Given the description of an element on the screen output the (x, y) to click on. 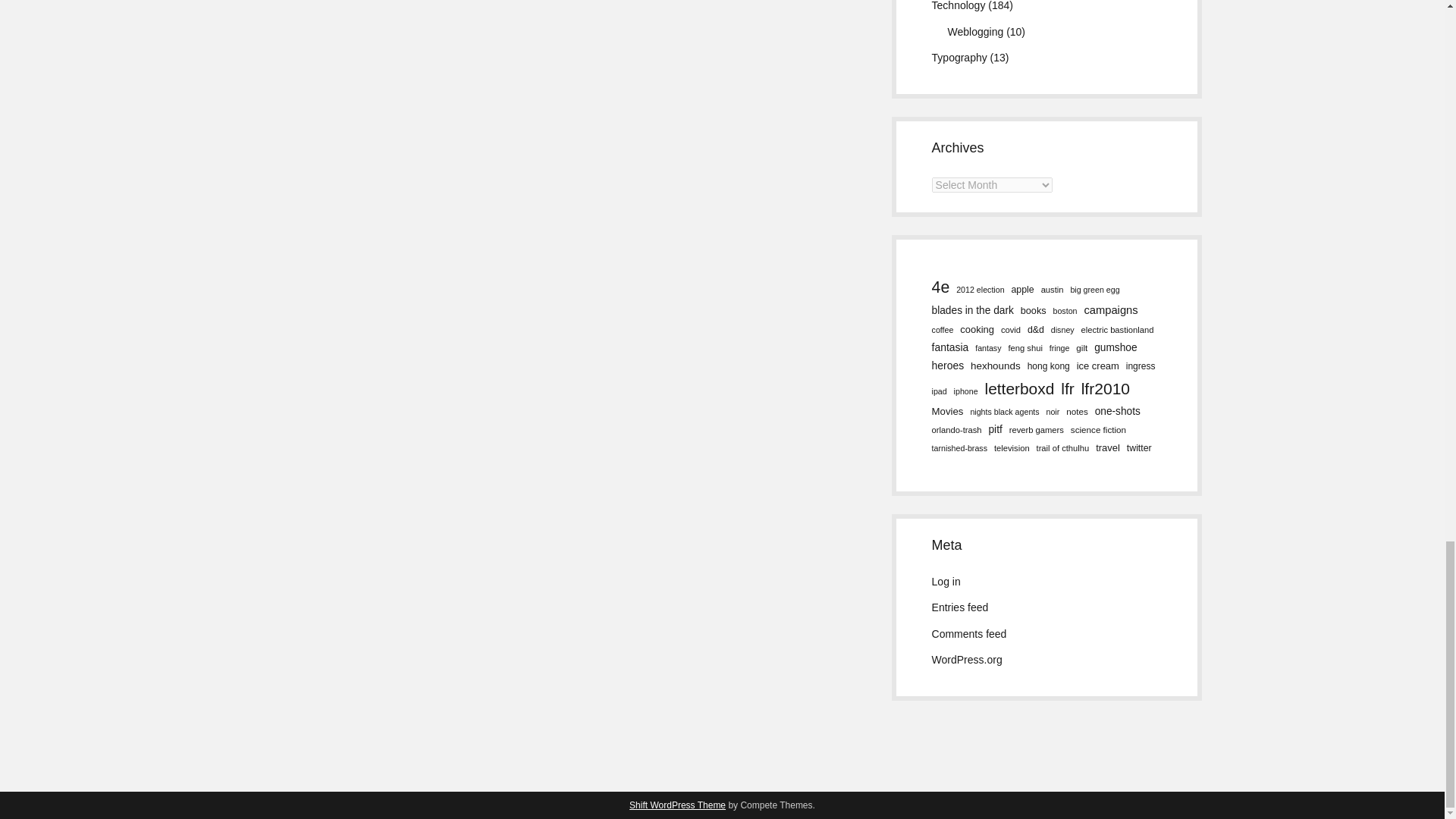
austin (1052, 289)
apple (1021, 289)
Weblogging (975, 31)
2012 election (980, 289)
Technology (958, 5)
Typography (959, 57)
